Given the description of an element on the screen output the (x, y) to click on. 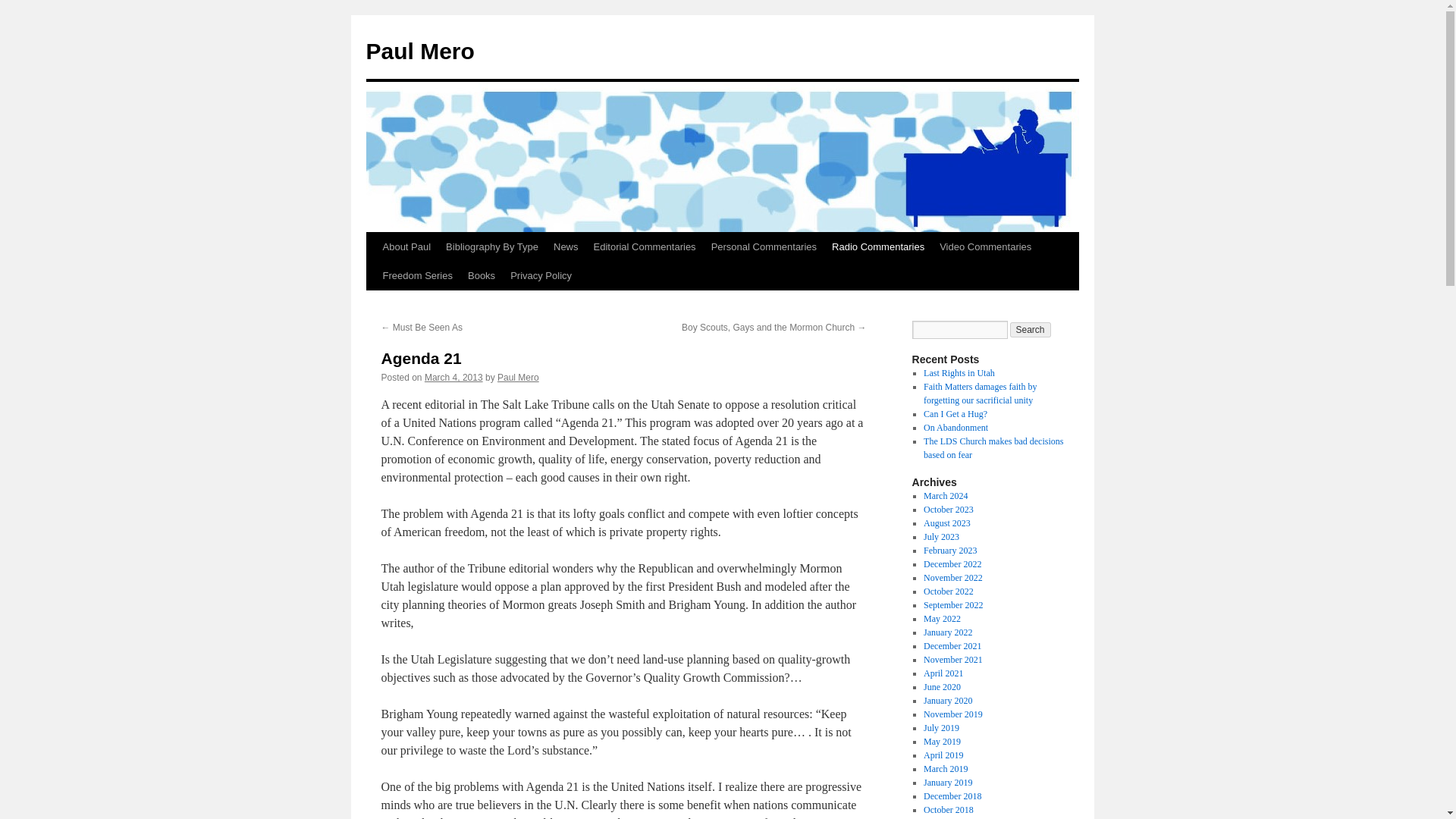
On Abandonment (955, 427)
November 2022 (952, 577)
February 2023 (949, 550)
October 2023 (948, 509)
Paul Mero (419, 50)
View all posts by Paul Mero (517, 377)
March 2024 (945, 495)
News (566, 246)
Editorial Commentaries (644, 246)
Personal Commentaries (763, 246)
